Given the description of an element on the screen output the (x, y) to click on. 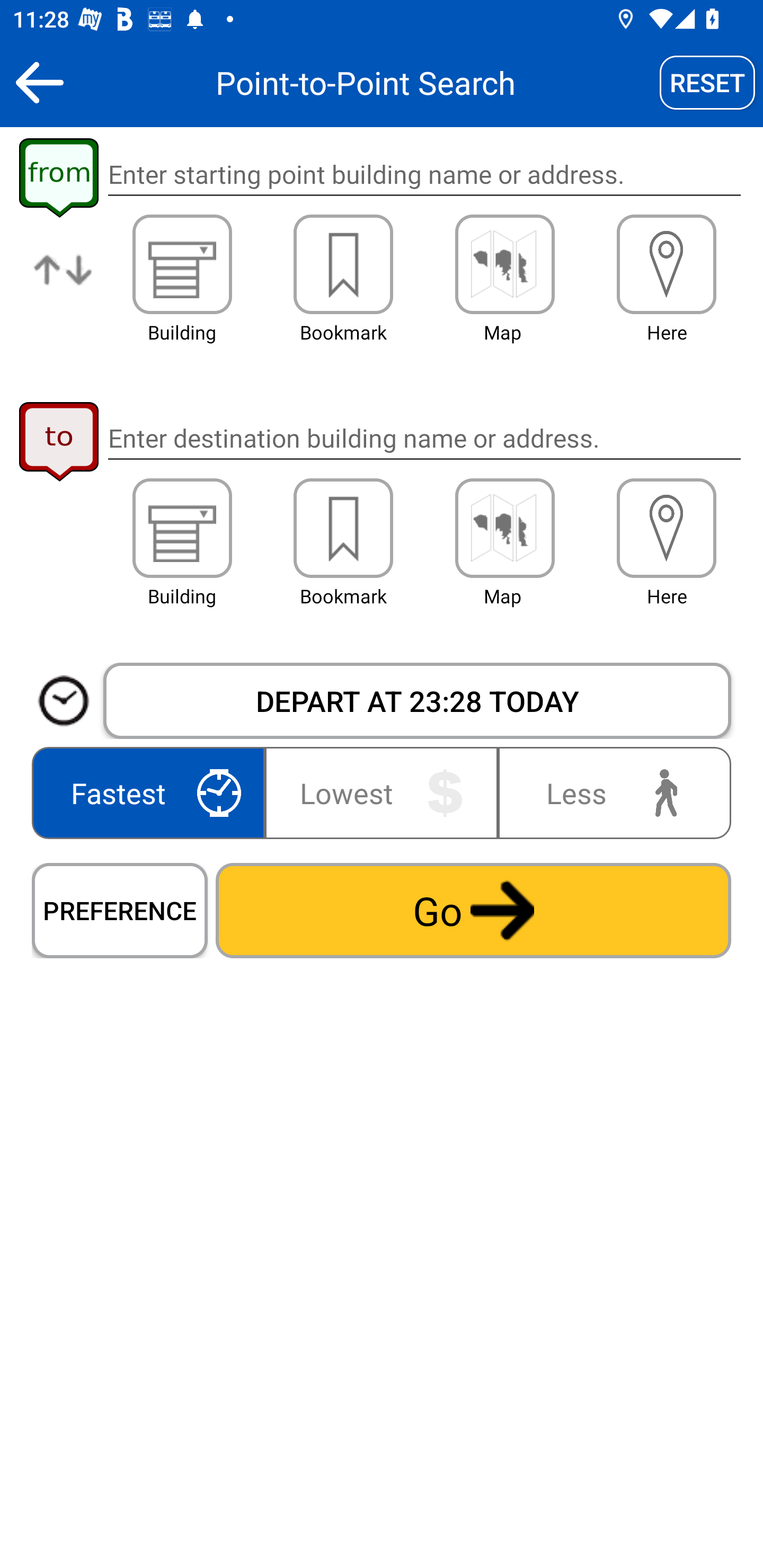
Back (39, 82)
RESET Reset (707, 81)
Enter starting point building name or address. (423, 174)
Building (181, 263)
Bookmarks (342, 263)
Select location on map (504, 263)
Here (666, 263)
Swap origin and destination (63, 284)
Enter destination building name or address. (423, 437)
Building (181, 528)
Bookmarks (342, 528)
Select location on map (504, 528)
Here (666, 528)
Lowest (381, 792)
Fastest selected (151, 792)
Less (610, 792)
PREFERENCE Preference (119, 910)
Go (472, 910)
